Given the description of an element on the screen output the (x, y) to click on. 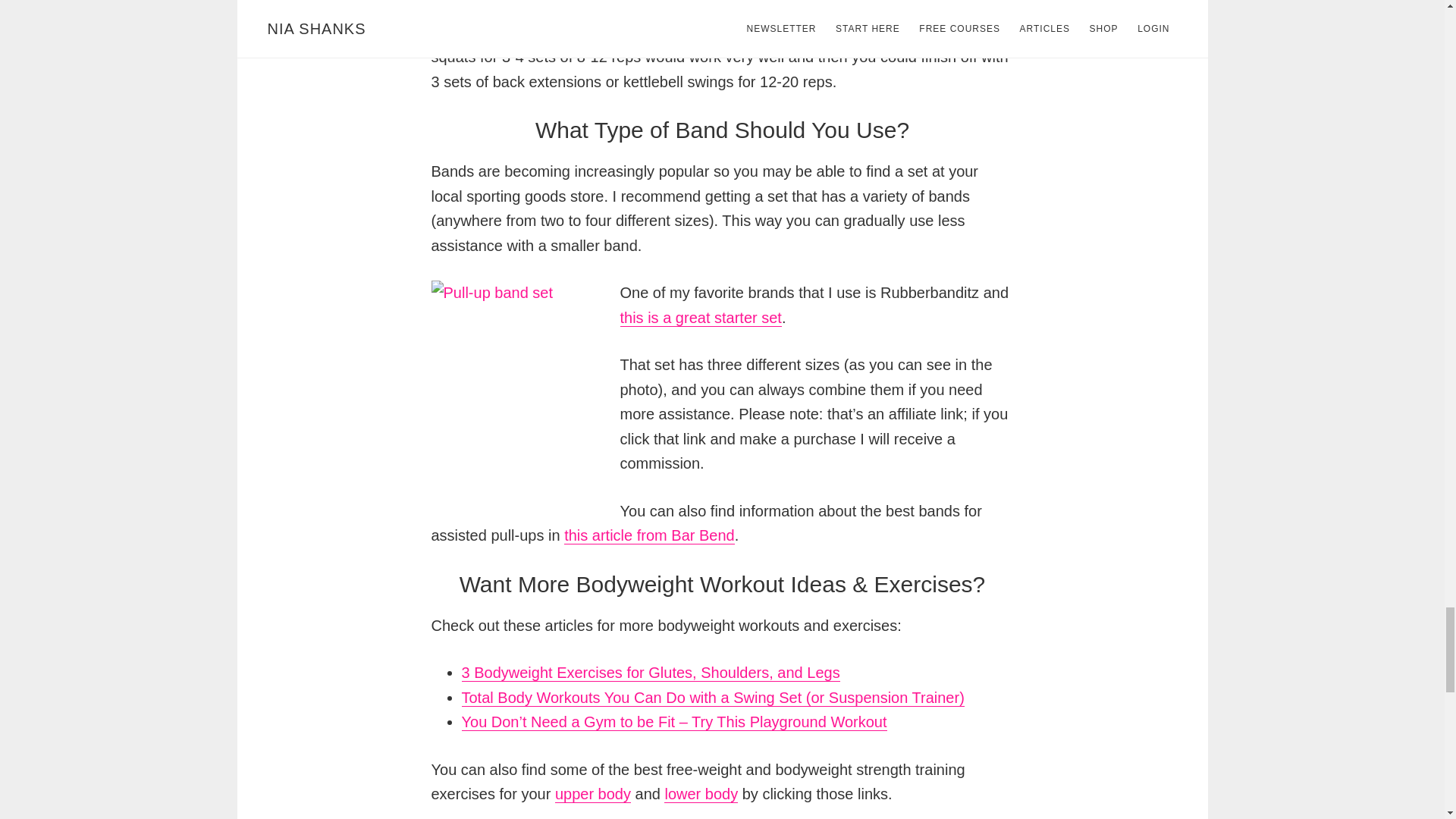
upper body (592, 794)
this is a great starter set (700, 317)
Pull-up Bands (700, 317)
Best Lower Body Exercises (700, 794)
You Don't Need a Gym - Try This Playground Workout (673, 722)
Total Body Workouts with a Swing Set or Suspension Trainer (712, 697)
3 Bodyweight Exercises for Glutes, Shoulders, and Legs (650, 672)
lower body (700, 794)
this article from Bar Bend (649, 535)
3 Bodyweight Exercises for Glutes, Shoulders, and Legs (650, 672)
